Given the description of an element on the screen output the (x, y) to click on. 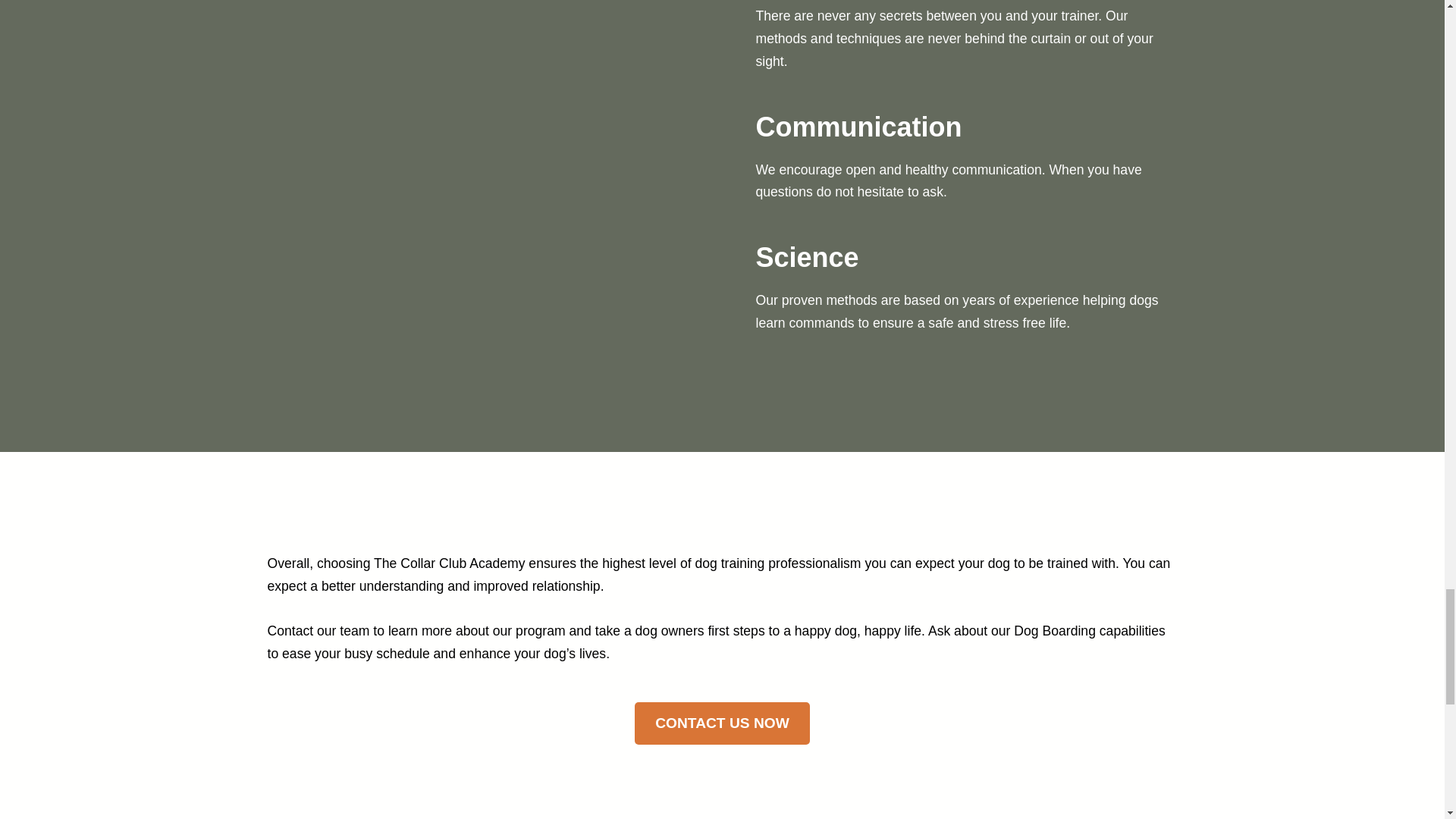
CONTACT US NOW (722, 722)
